Given the description of an element on the screen output the (x, y) to click on. 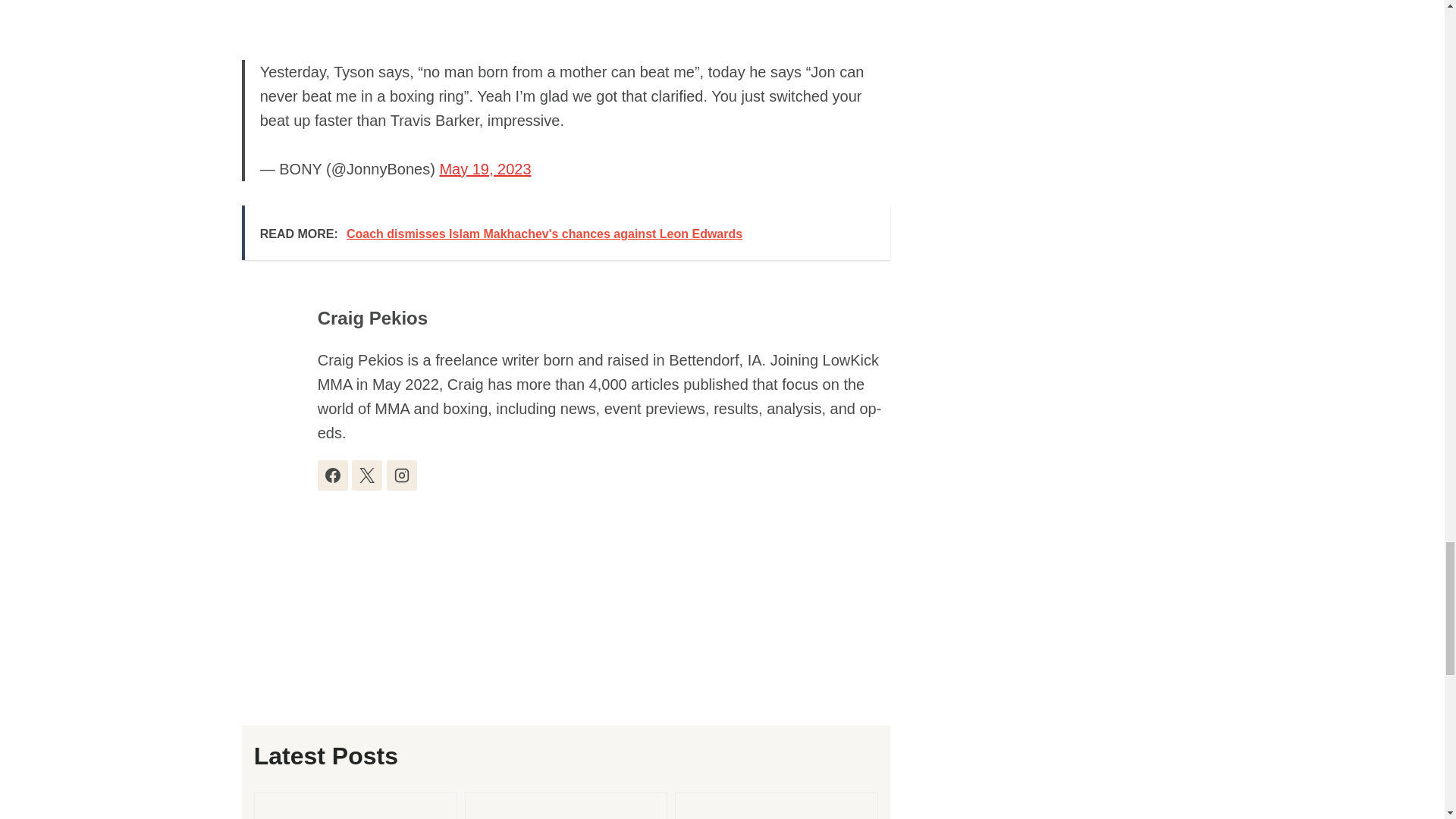
Follow Craig Pekios on Facebook (332, 475)
Follow Craig Pekios on Instagram (401, 475)
Follow Craig Pekios on X formerly Twitter (366, 475)
Posts by Craig Pekios (372, 317)
